Given the description of an element on the screen output the (x, y) to click on. 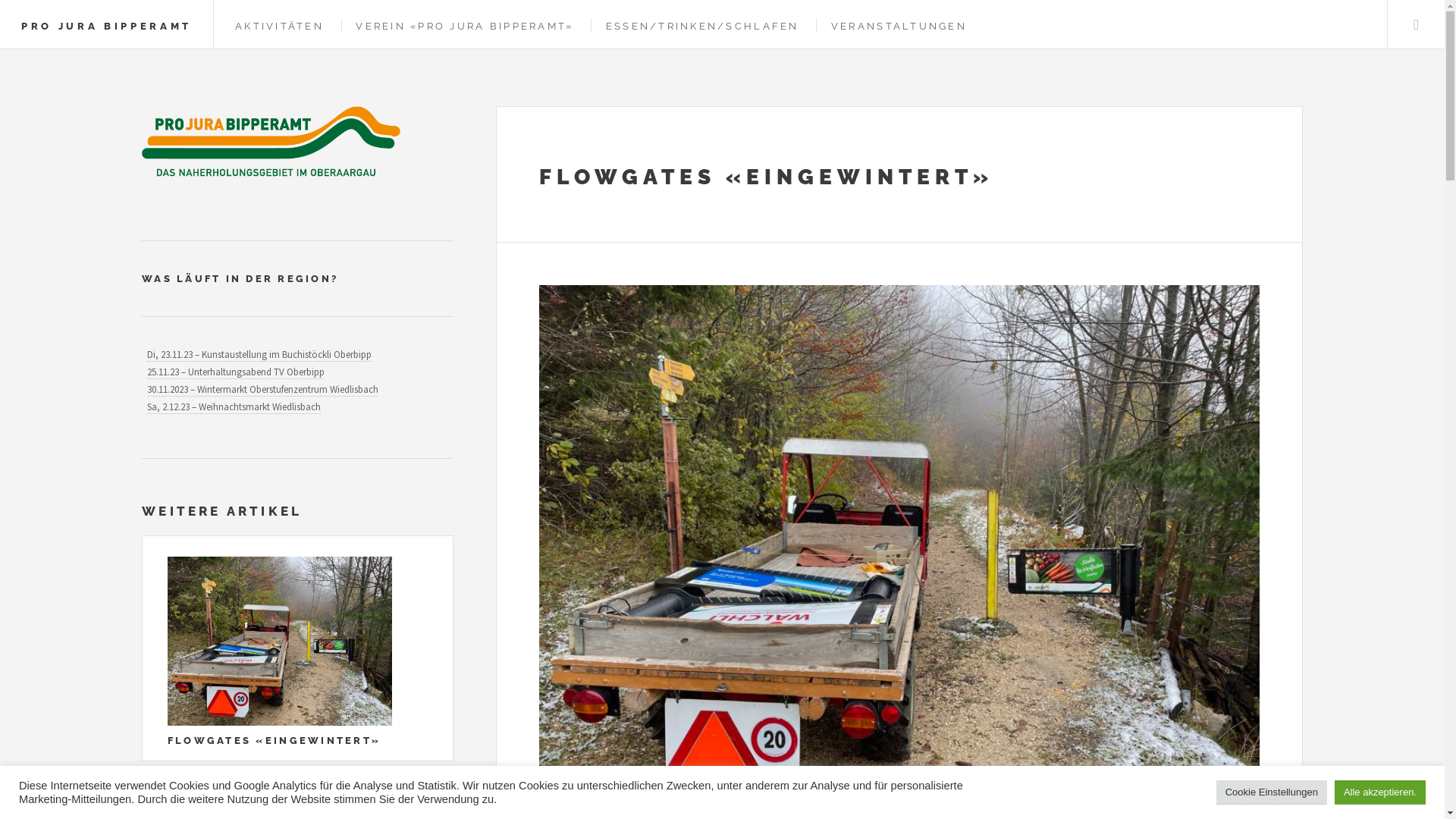
Alle akzeptieren. Element type: text (1379, 792)
Cookie Einstellungen Element type: text (1271, 792)
ESSEN/TRINKEN/SCHLAFEN Element type: text (702, 25)
PRO JURA BIPPERAMT Element type: text (106, 25)
VERANSTALTUNGEN Element type: text (898, 25)
